Given the description of an element on the screen output the (x, y) to click on. 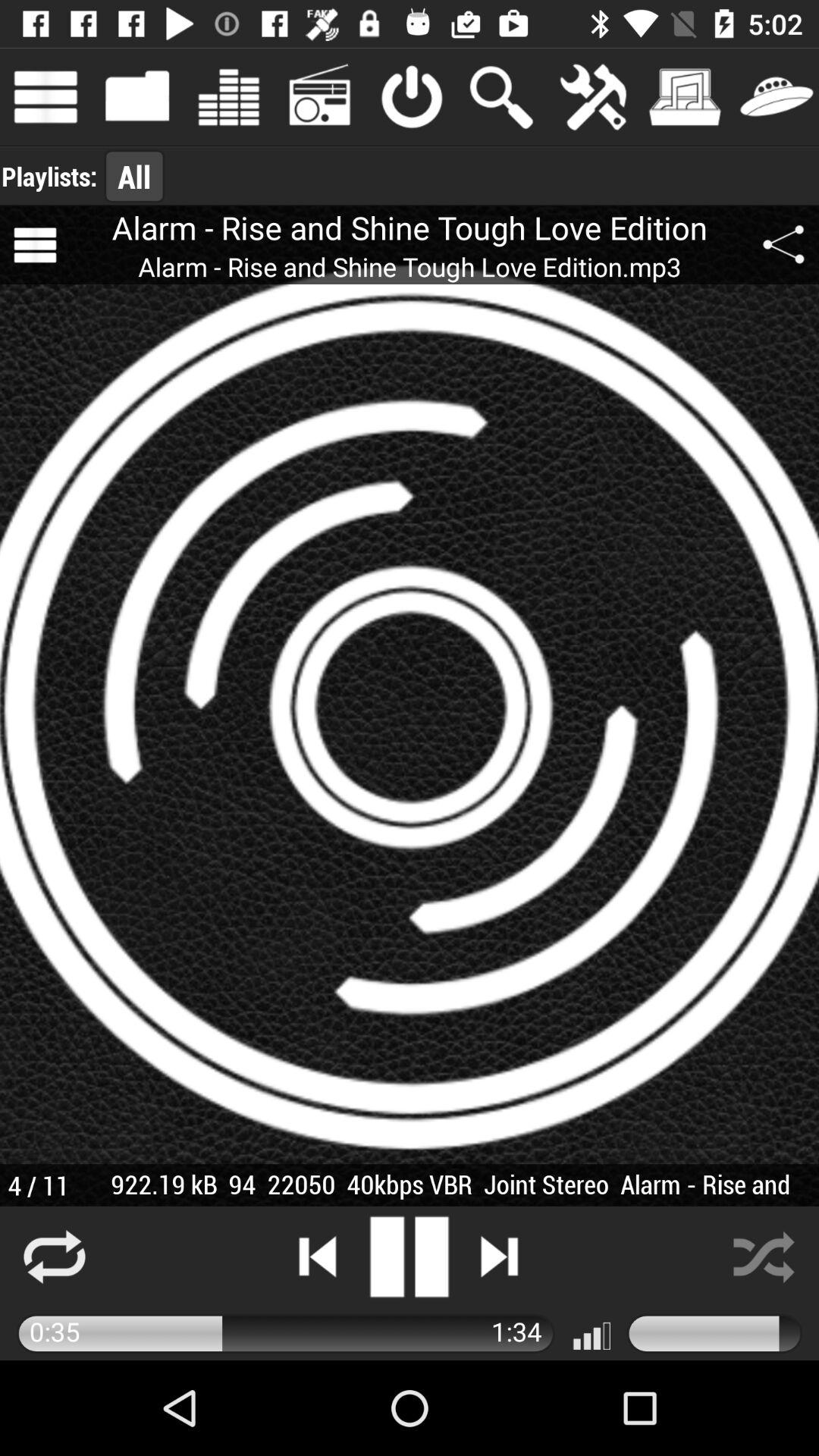
select icon next to the alarm rise and item (34, 244)
